Given the description of an element on the screen output the (x, y) to click on. 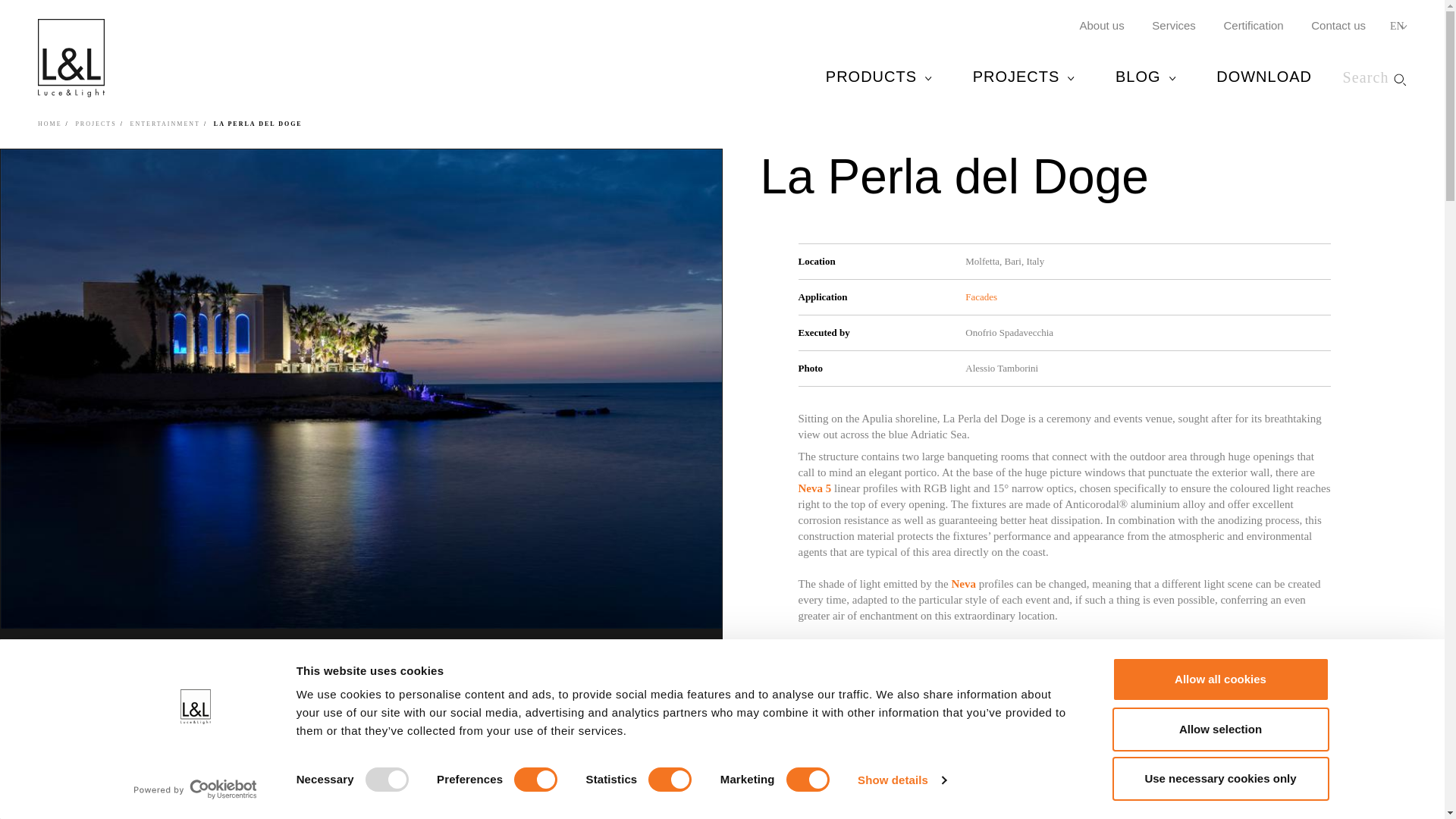
Use necessary cookies only (1219, 778)
Allow all cookies (1219, 679)
Allow selection (1219, 728)
Show details (900, 780)
